Given the description of an element on the screen output the (x, y) to click on. 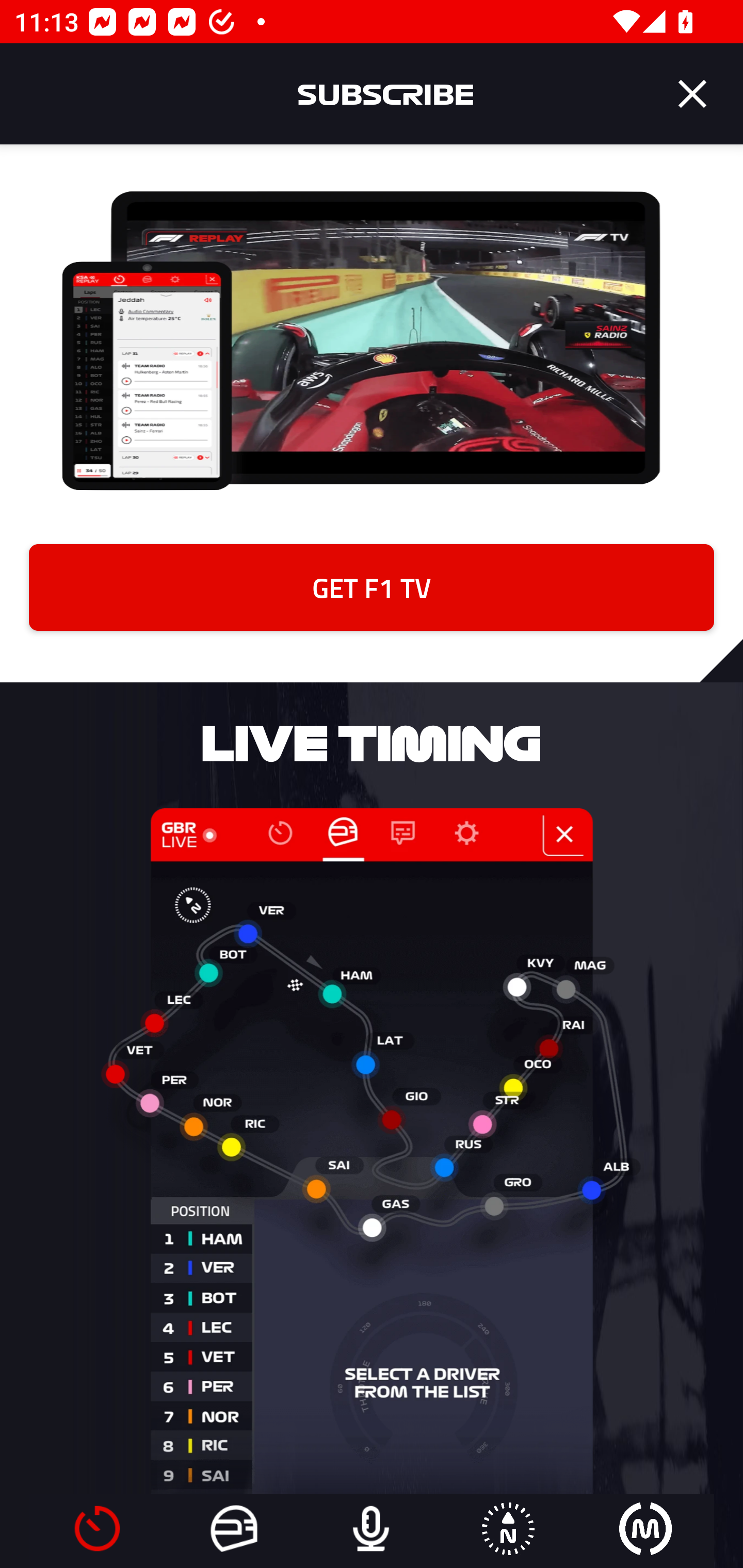
Close (692, 93)
GET F1 TV (371, 587)
